Given the description of an element on the screen output the (x, y) to click on. 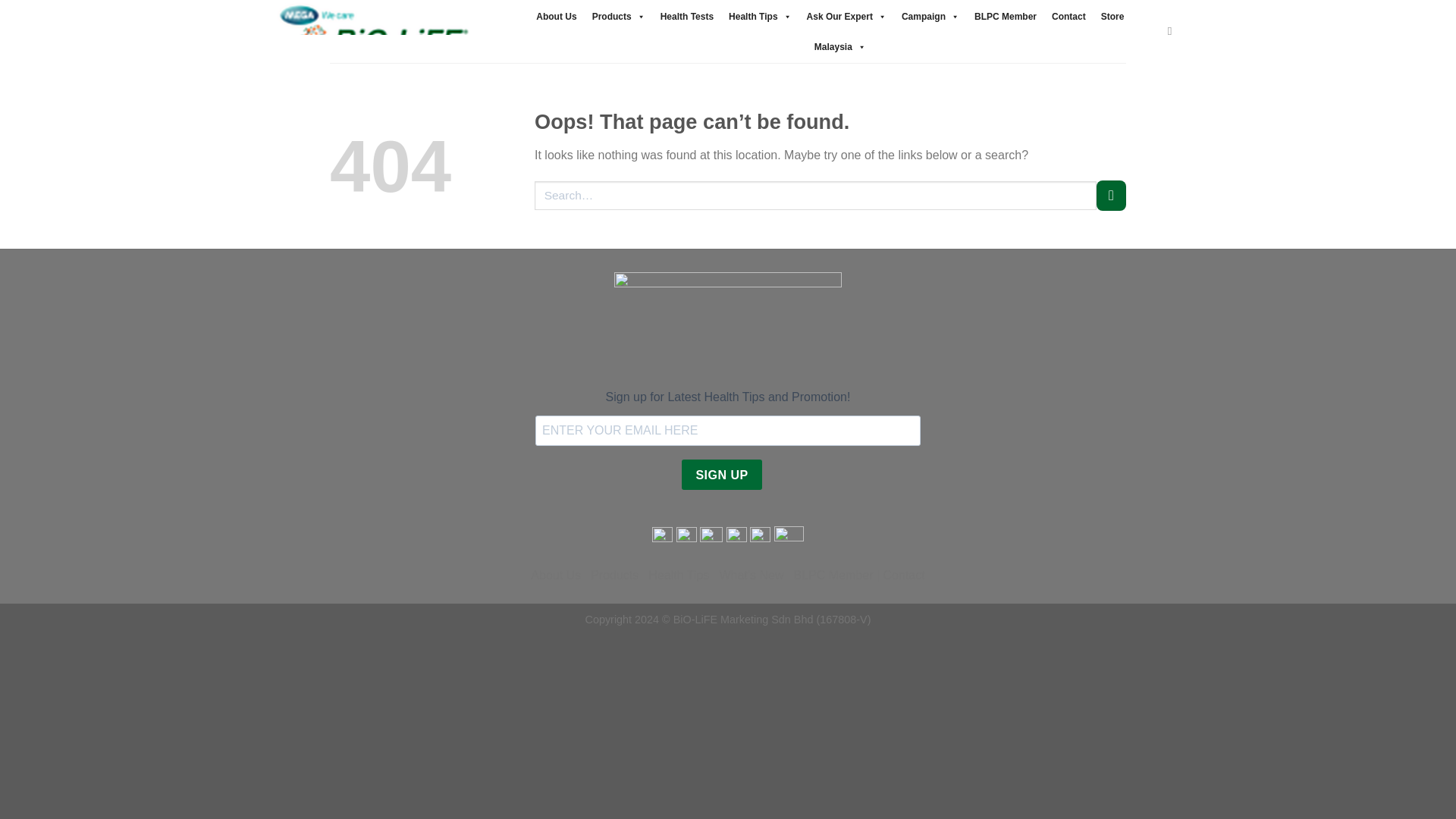
Health Tests (686, 16)
Products (618, 16)
About Us (555, 16)
Health Tips (758, 16)
BiO-LiFE - We care for Your Wellness (373, 31)
